Given the description of an element on the screen output the (x, y) to click on. 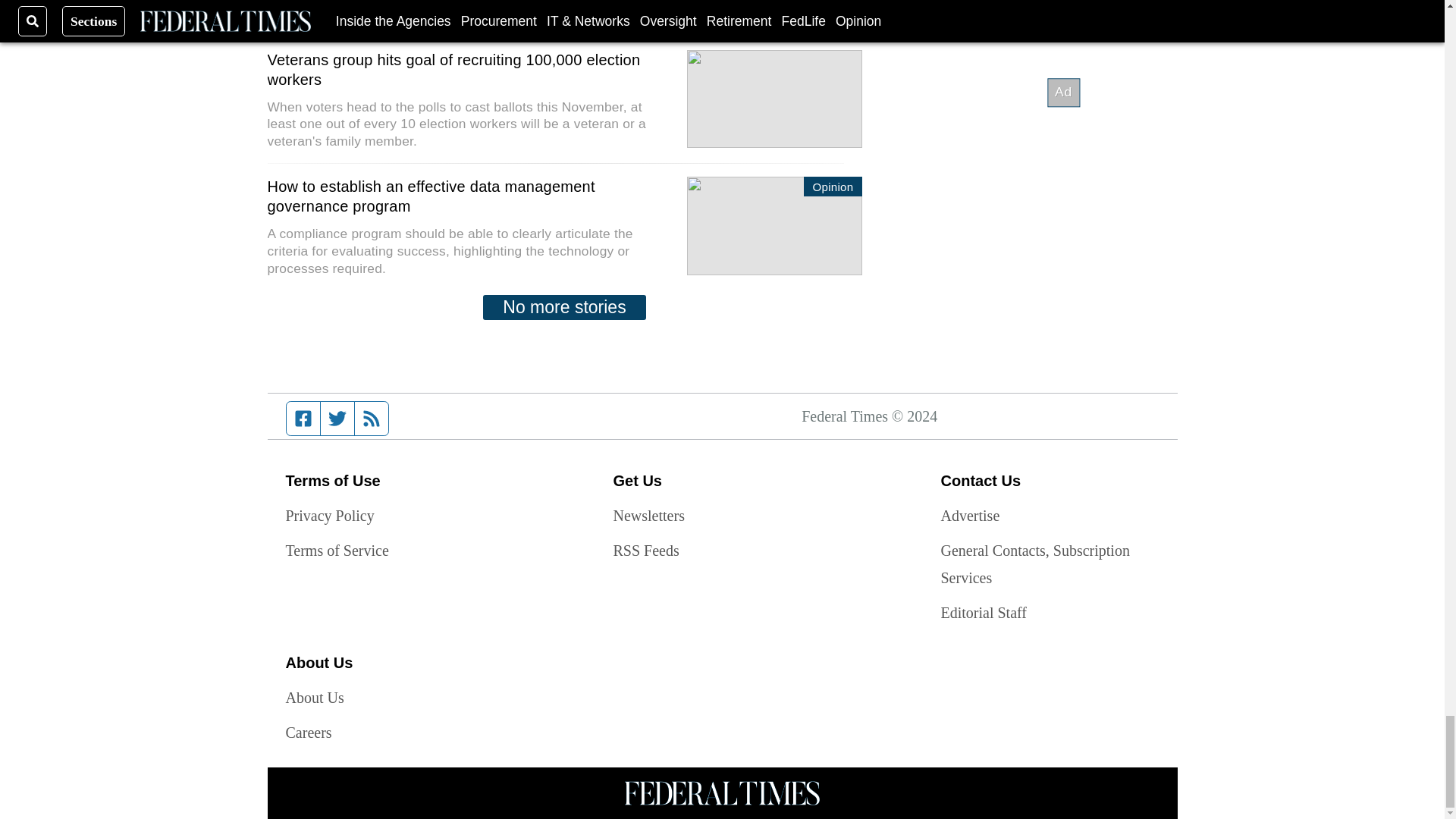
RSS feed (371, 418)
Facebook page (303, 418)
Twitter feed (336, 418)
